Given the description of an element on the screen output the (x, y) to click on. 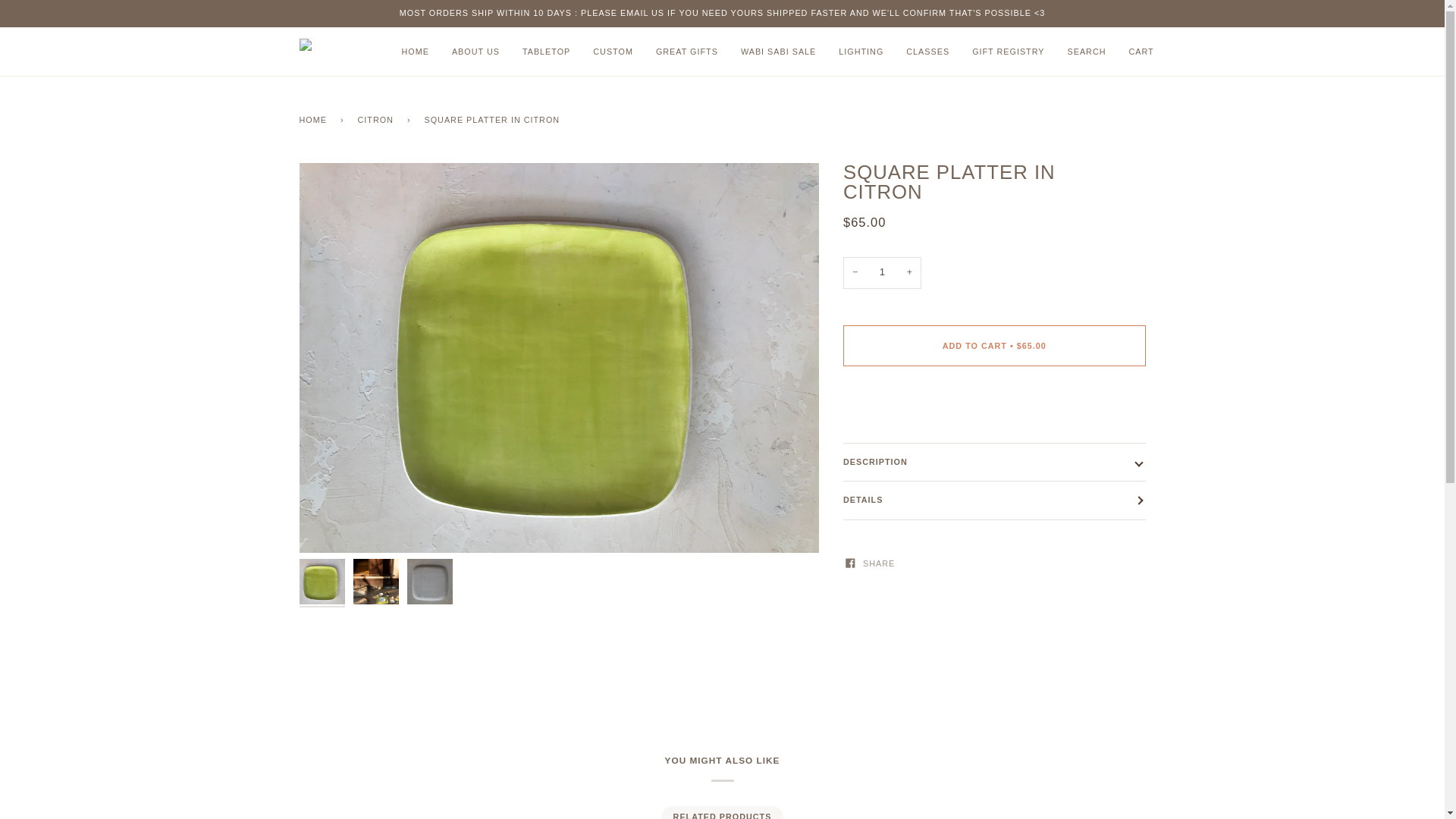
CUSTOM (612, 51)
Back to the frontpage (314, 119)
1 (882, 273)
RELATED PRODUCTS (721, 812)
TABLETOP (545, 51)
HOME (414, 51)
GREAT GIFTS (687, 51)
ABOUT US (476, 51)
WABI SABI SALE (778, 51)
